Given the description of an element on the screen output the (x, y) to click on. 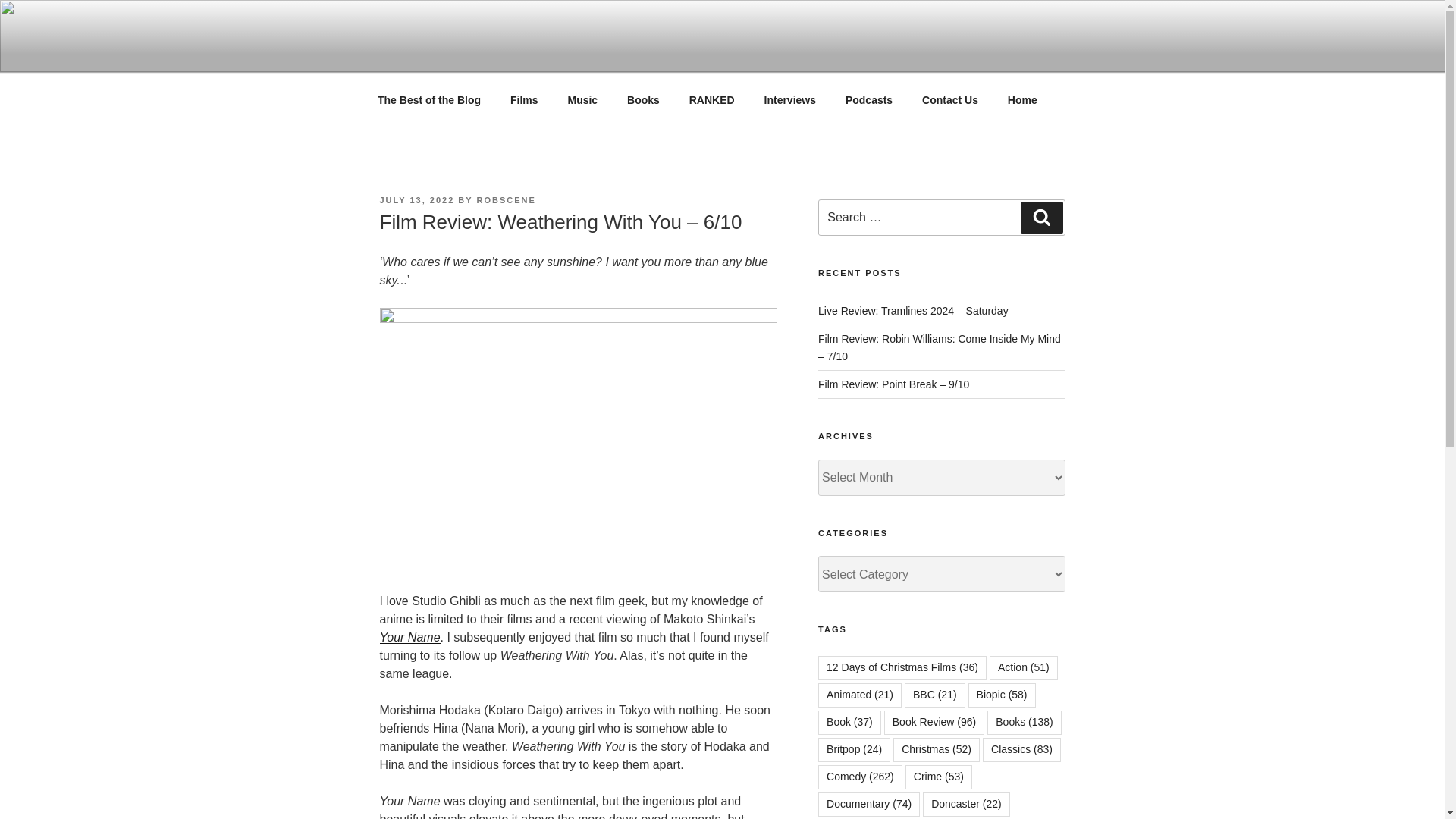
Music (582, 99)
The Best of the Blog (428, 99)
Search (1041, 217)
Home (1021, 99)
Your Name (408, 636)
ROBSCENE (505, 199)
RANKED (711, 99)
Contact Us (949, 99)
Interviews (789, 99)
JULY 13, 2022 (416, 199)
Podcasts (868, 99)
ROBSCENE (464, 52)
Books (643, 99)
Films (524, 99)
